Given the description of an element on the screen output the (x, y) to click on. 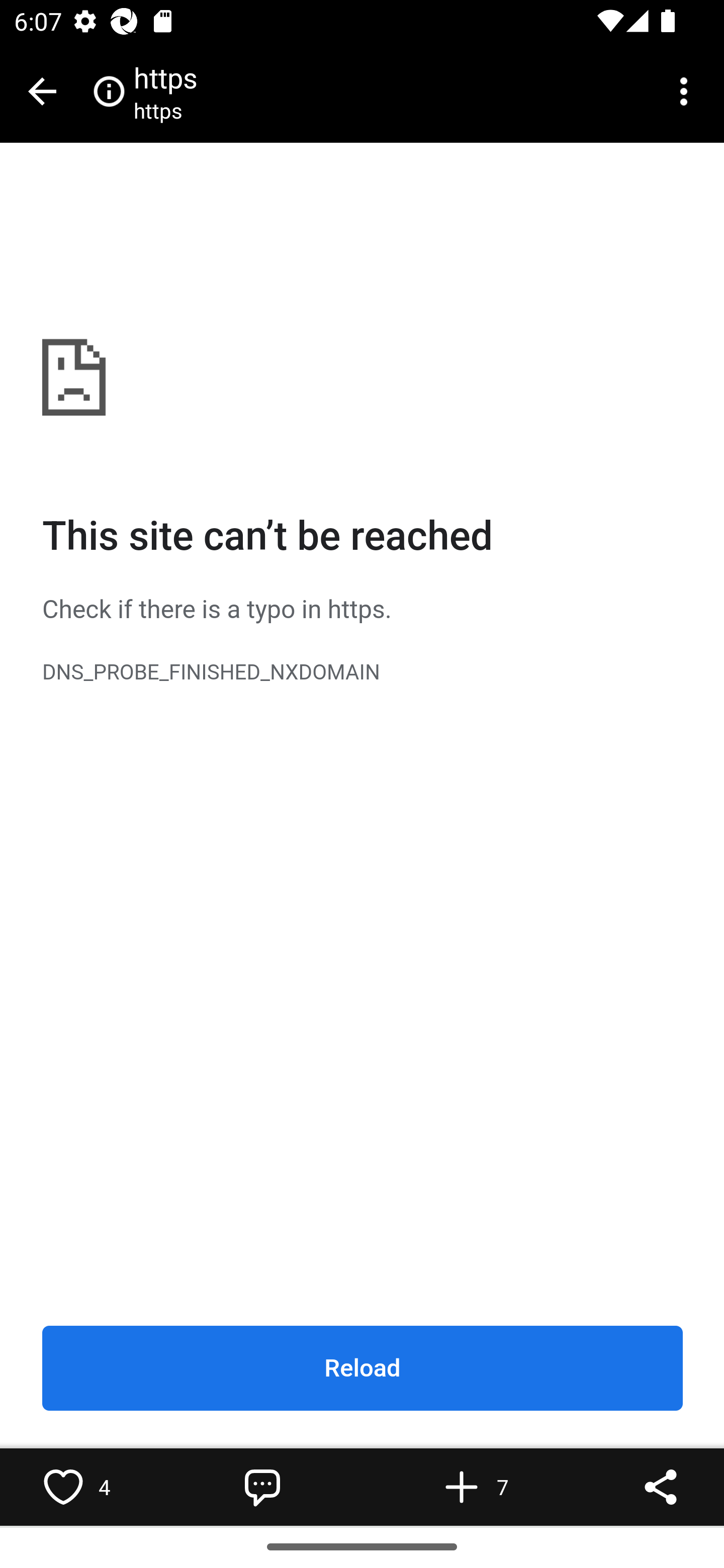
Close tab (42, 91)
More options (687, 91)
Your connection to this site is not secure (108, 90)
https (164, 109)
Reload (362, 1368)
Like (63, 1486)
Write a comment… (262, 1486)
Flip into Magazine (461, 1486)
Share (660, 1486)
